Given the description of an element on the screen output the (x, y) to click on. 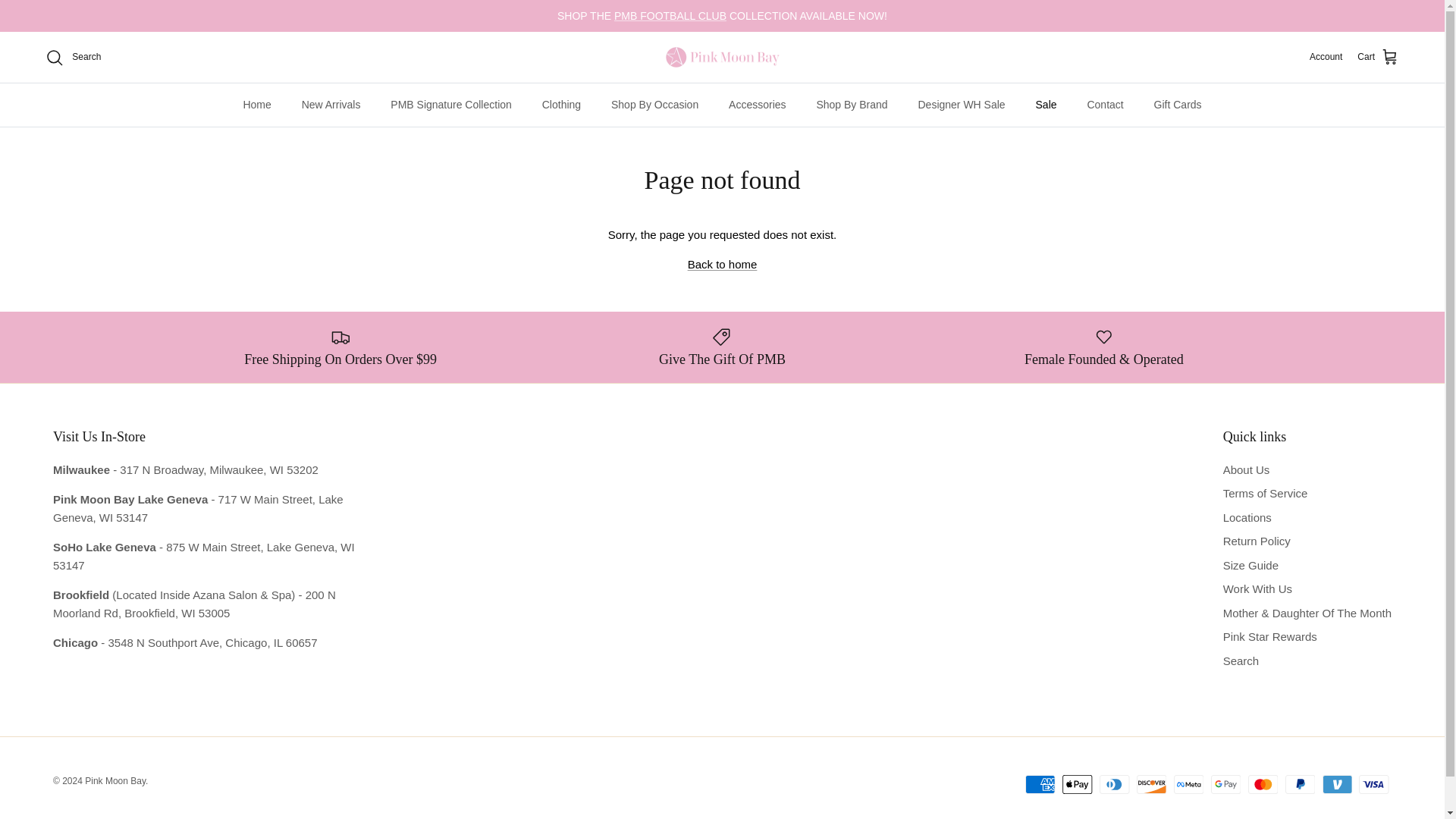
Visa (1373, 783)
PMB Signature Collection (451, 104)
PayPal (1299, 783)
Pink Moon Bay (721, 56)
Venmo (1337, 783)
Home (255, 104)
PMB FOOTBALL CLUB (670, 15)
Cart (1377, 57)
American Express (1040, 783)
Meta Pay (1188, 783)
